Given the description of an element on the screen output the (x, y) to click on. 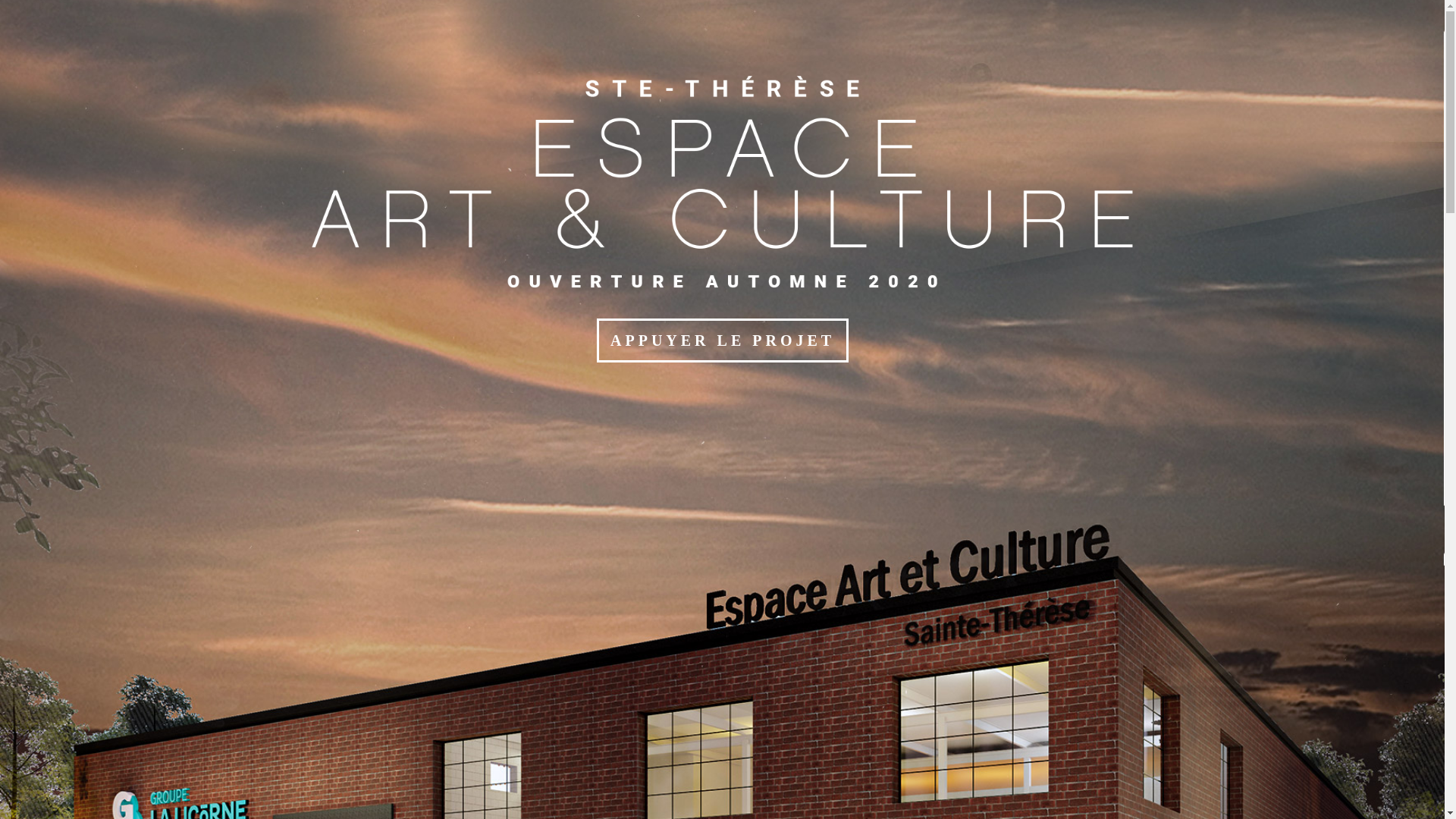
APPUYER LE PROJET Element type: text (722, 340)
